Given the description of an element on the screen output the (x, y) to click on. 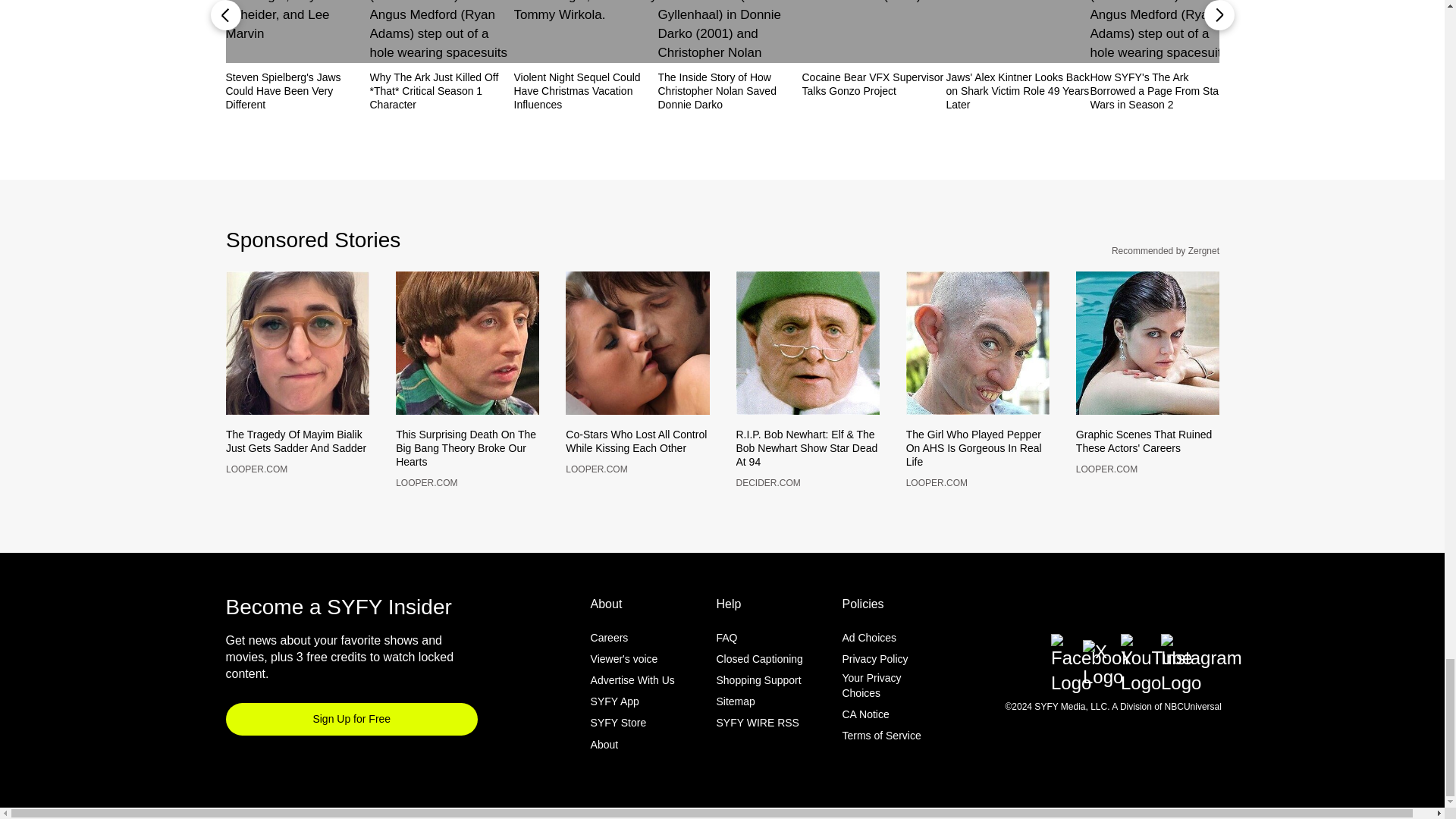
Advertise With Us (633, 705)
